Given the description of an element on the screen output the (x, y) to click on. 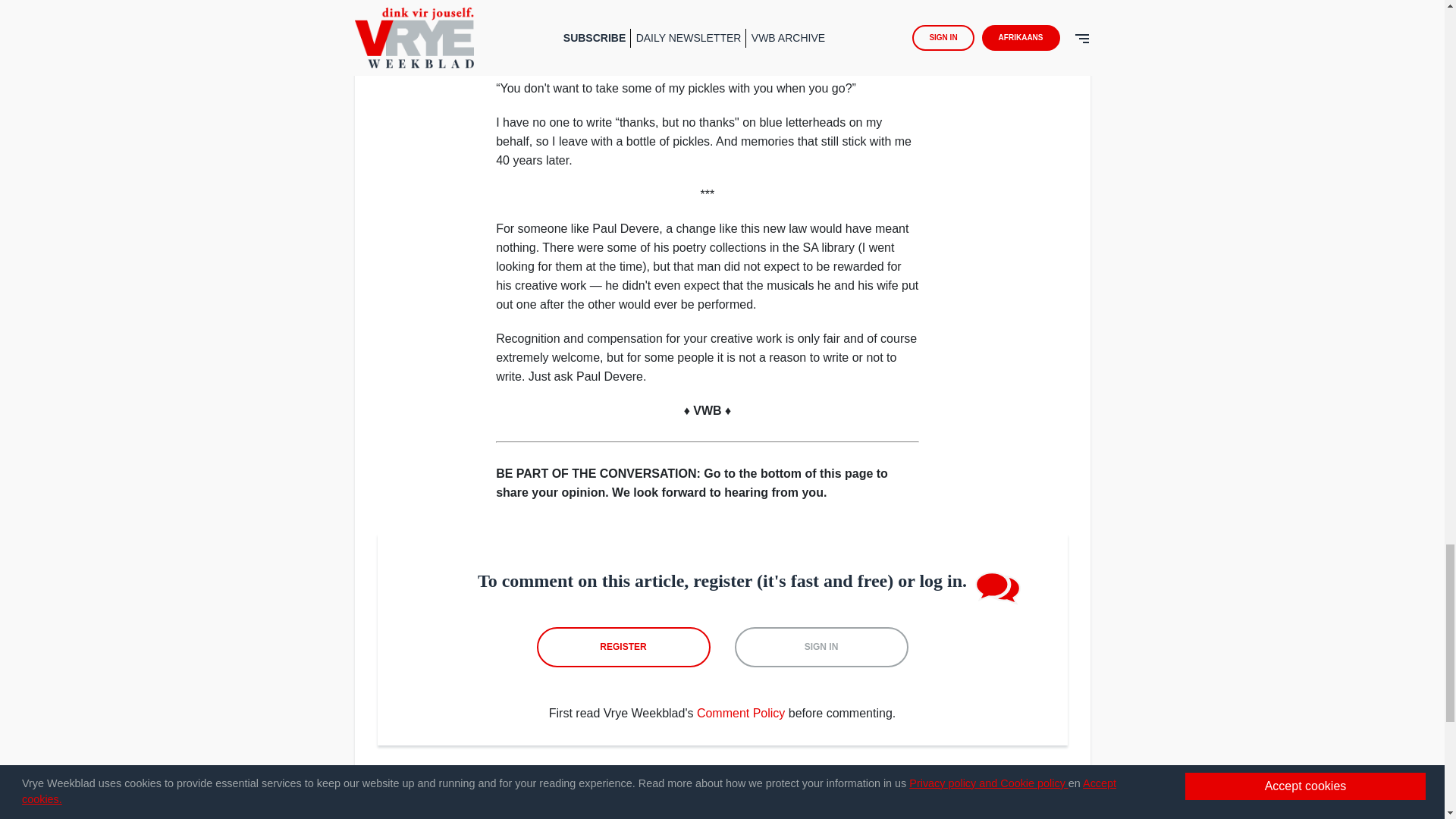
Landmines on the road to a coalition government (435, 805)
Courts are not the forum for this debate (1020, 805)
